Given the description of an element on the screen output the (x, y) to click on. 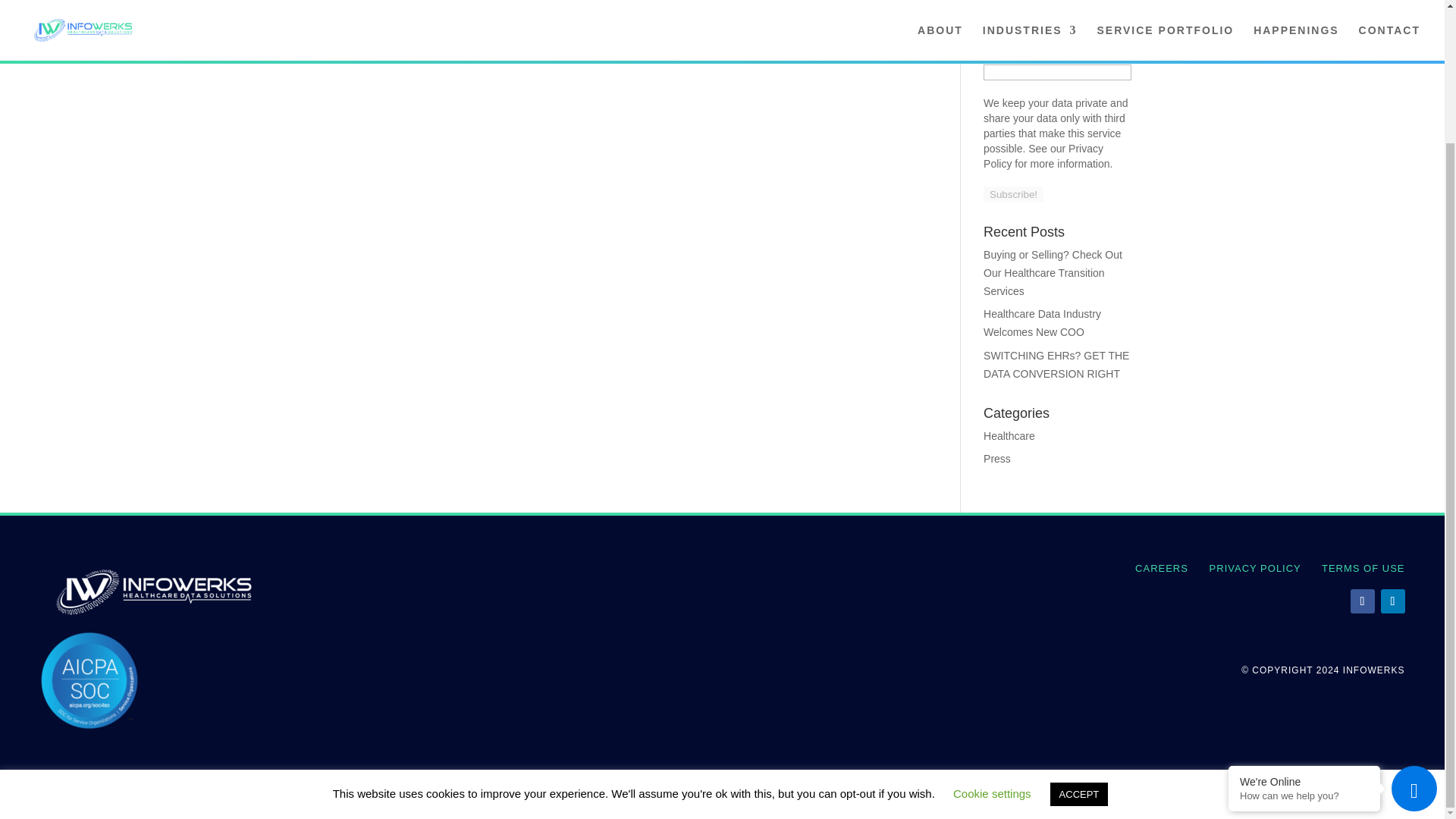
Subscribe! (1013, 194)
INFOWERK HORISONTAL WHITE (152, 591)
Email (1057, 72)
Subscribe! (1013, 194)
Healthcare (1009, 435)
Press (997, 458)
Healthcare Data Industry Welcomes New COO (1042, 322)
How can we help you? (1304, 633)
We're Online (1304, 619)
Cookie settings (991, 631)
TERMS OF USE (1363, 568)
Follow on LinkedIn (1392, 600)
CAREERS (1161, 568)
PRIVACY POLICY (1255, 568)
